Given the description of an element on the screen output the (x, y) to click on. 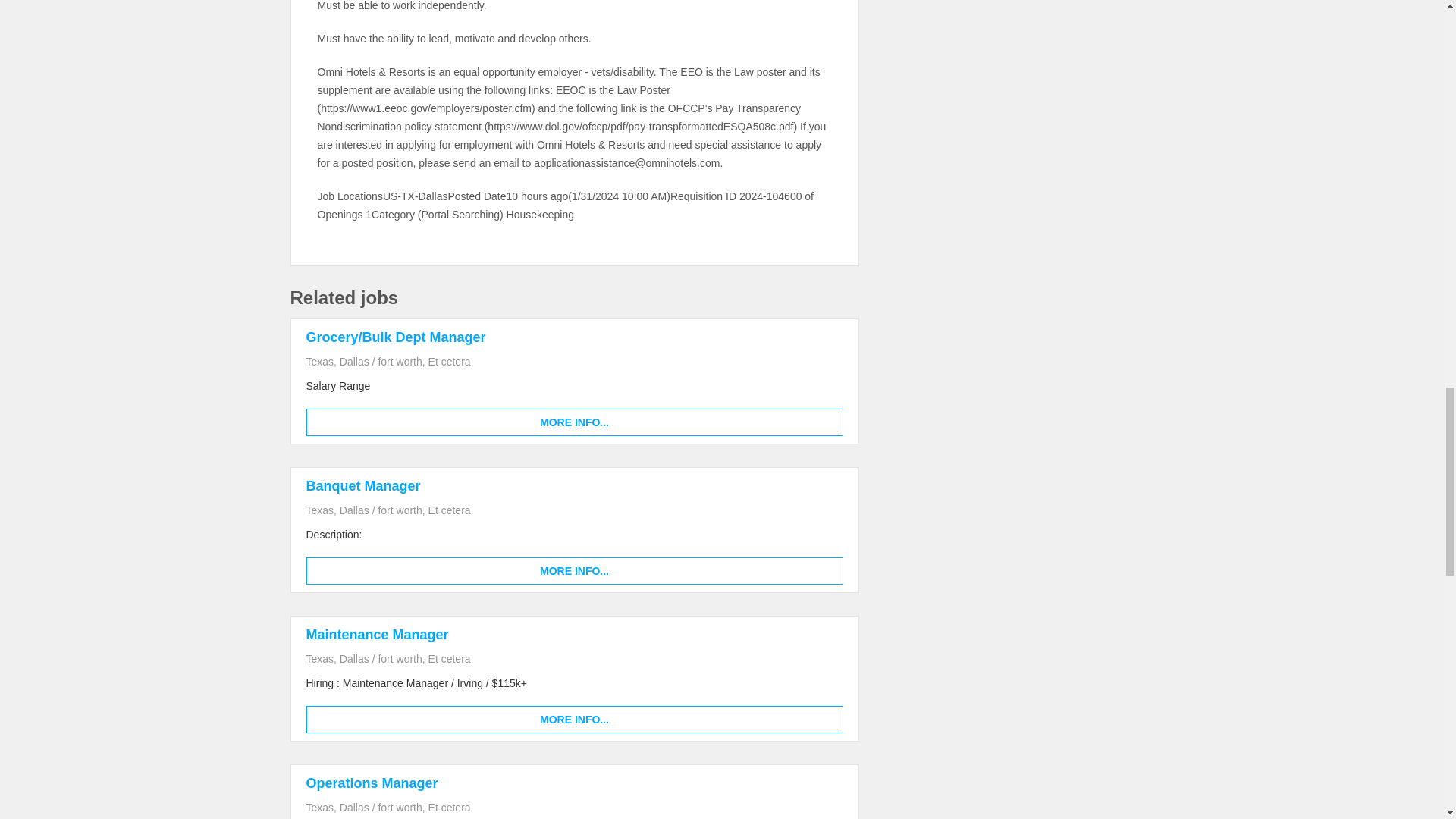
Et cetera (449, 807)
Maintenance Manager (376, 634)
Texas (319, 510)
Et cetera (449, 510)
MORE INFO... (574, 719)
Operations Manager (371, 783)
MORE INFO... (574, 570)
Texas (319, 658)
Et cetera (449, 658)
Texas (319, 361)
Banquet Manager (362, 485)
Texas (319, 807)
Et cetera (449, 361)
MORE INFO... (574, 421)
